Given the description of an element on the screen output the (x, y) to click on. 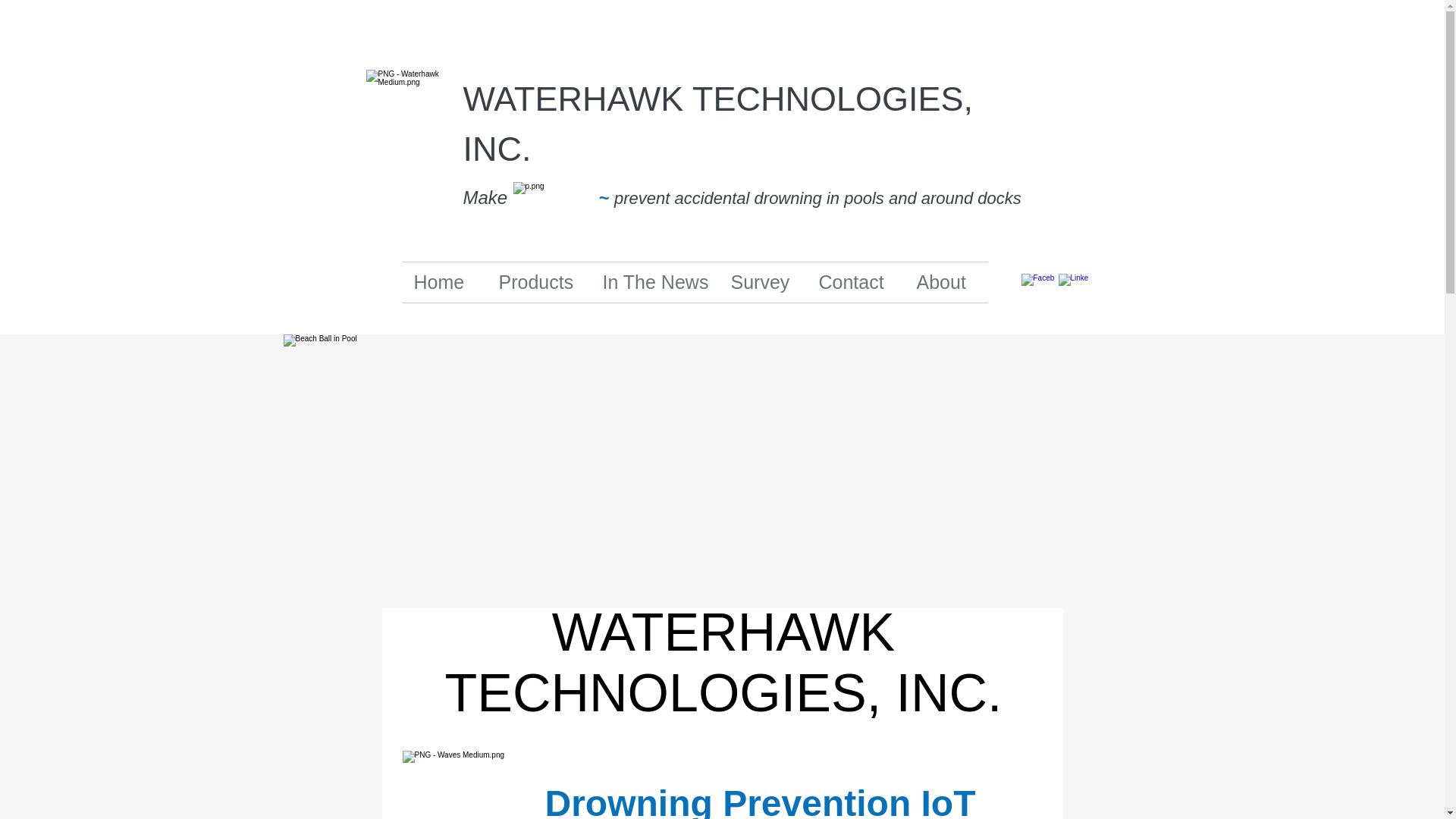
Survey (762, 282)
WATERHAWK TECHNOLOGIES, INC. (717, 123)
Home (443, 282)
Contact (855, 282)
Products (538, 282)
In The News (655, 282)
About (946, 282)
